Given the description of an element on the screen output the (x, y) to click on. 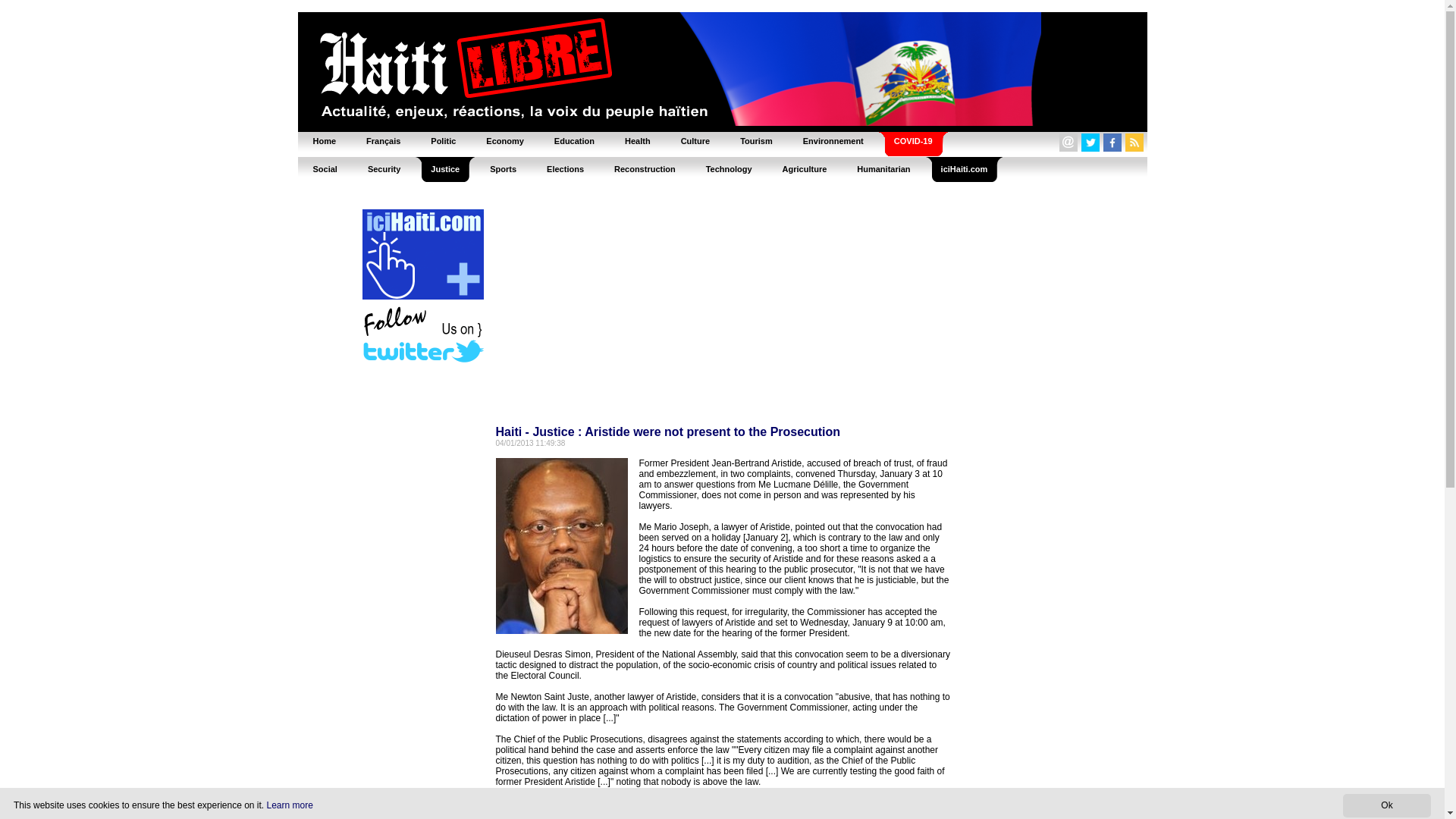
Elections (564, 168)
Elections (564, 168)
Humanitarian (882, 168)
iciHaiti.com (964, 168)
Politic (442, 141)
Tourism (756, 141)
Humanitarian (882, 168)
Culture (695, 141)
Economy (504, 141)
Home (323, 141)
Economy (504, 141)
Social (324, 168)
Agriculture (805, 168)
COVID-19 (913, 141)
Social (324, 168)
